Given the description of an element on the screen output the (x, y) to click on. 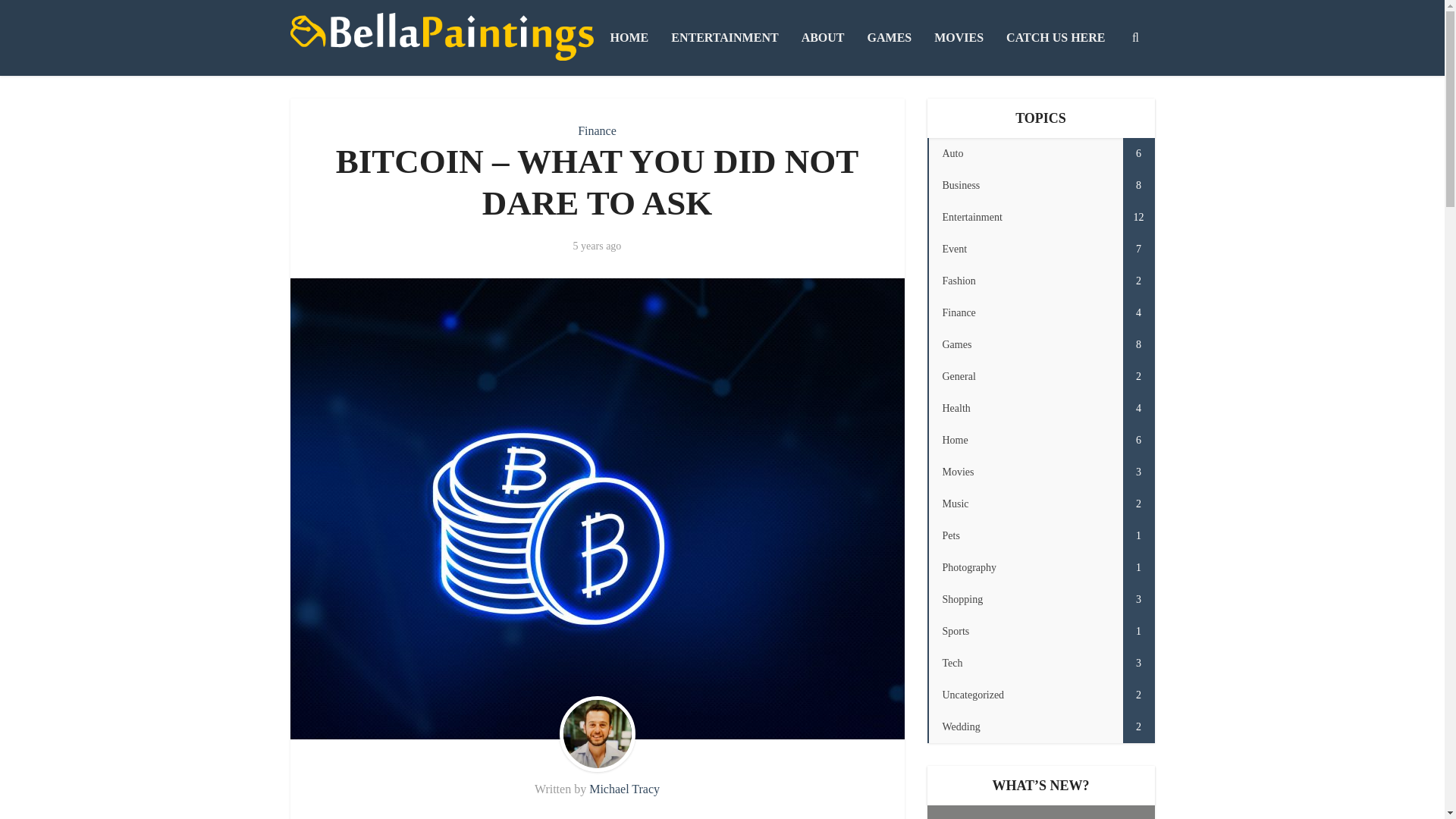
MOVIES (1040, 313)
The healing therapy - Movies and Games (958, 38)
CATCH US HERE (1040, 153)
ENTERTAINMENT (1040, 185)
GAMES (440, 36)
